Given the description of an element on the screen output the (x, y) to click on. 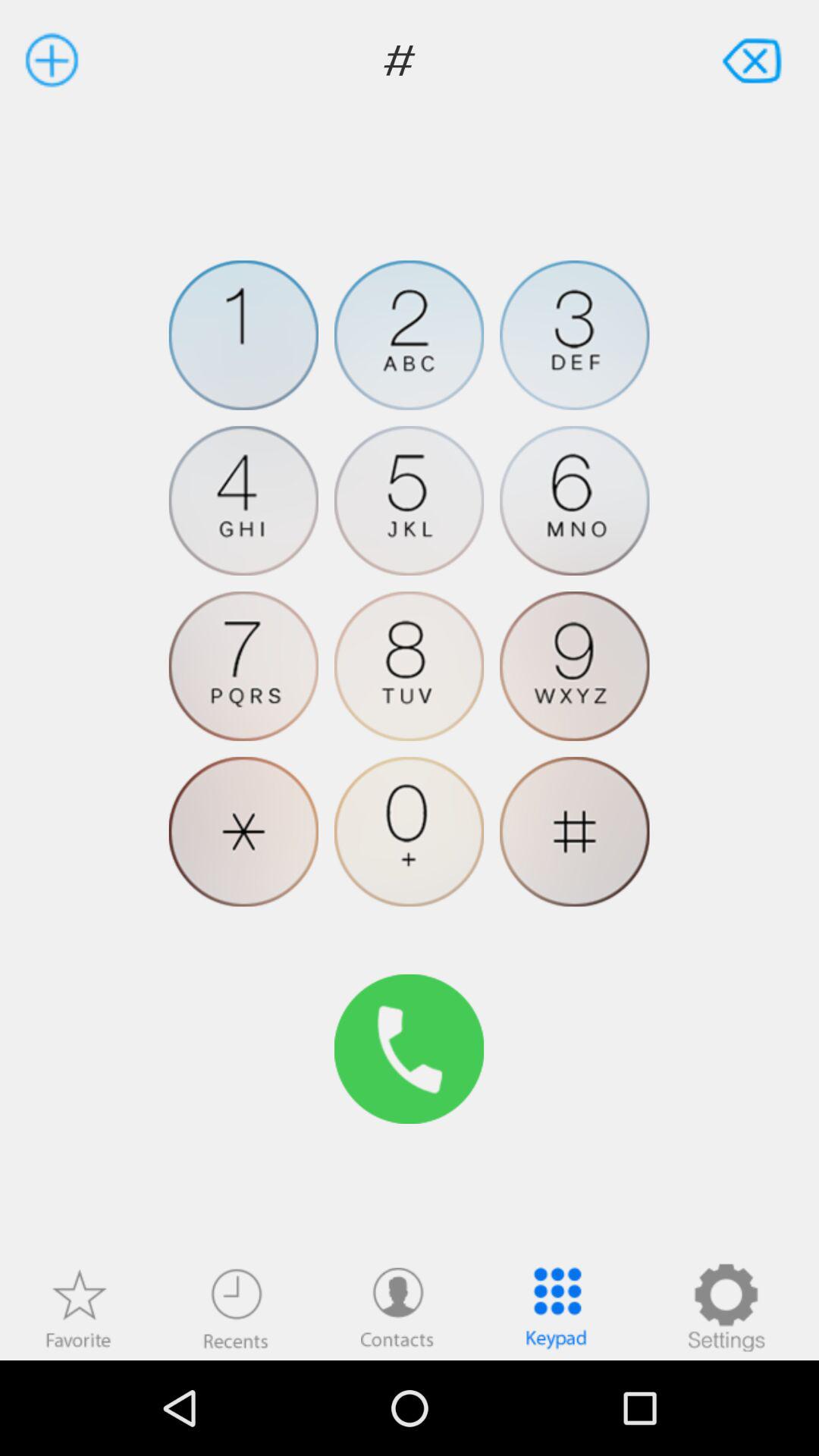
show recent calls (235, 1307)
